Given the description of an element on the screen output the (x, y) to click on. 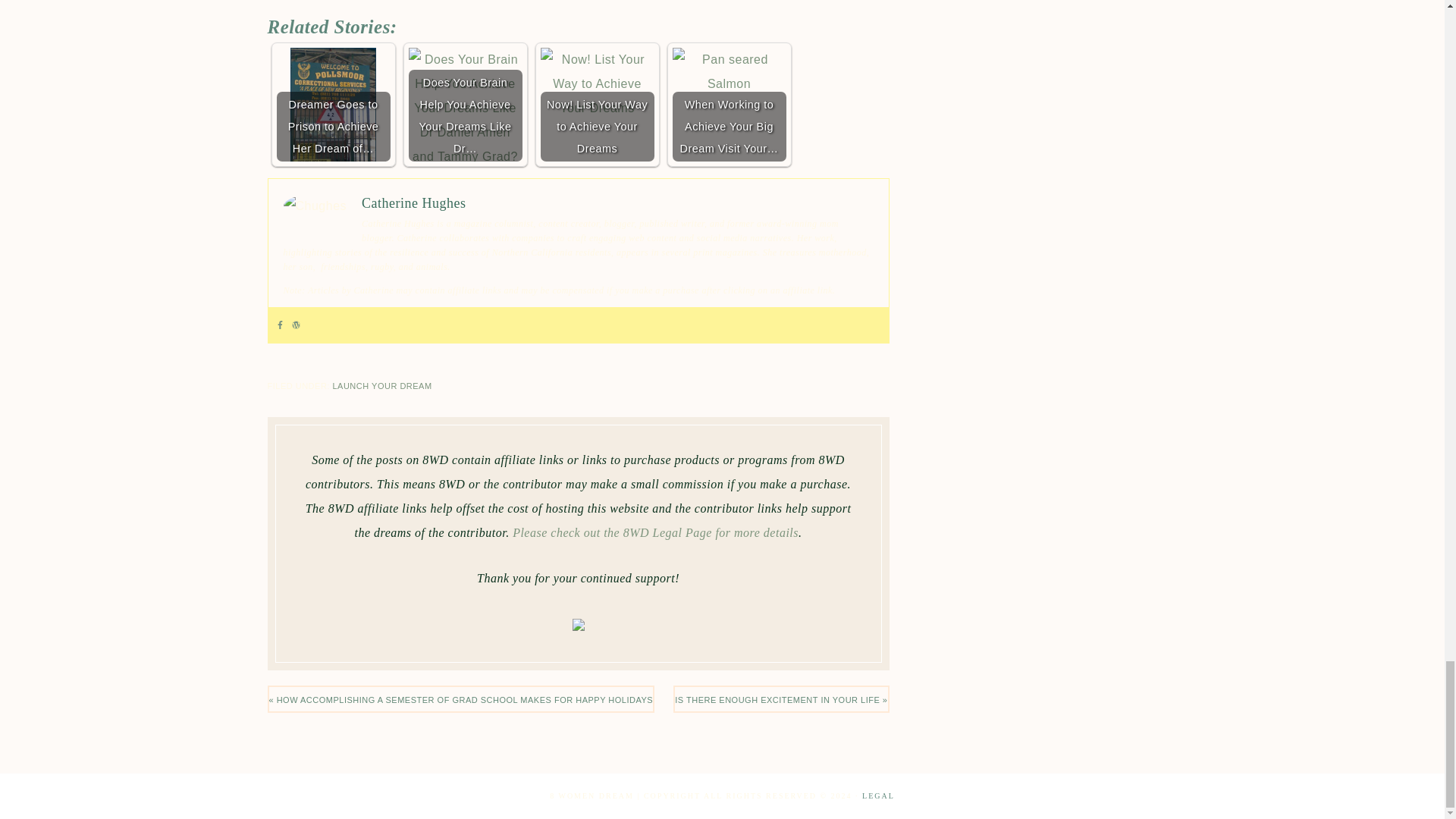
Now! List Your Way to Achieve Your Dreams (596, 104)
Catherine Hughes (413, 202)
LAUNCH YOUR DREAM (380, 385)
Now! List Your Way to Achieve Your Dreams  (596, 83)
Please check out the 8WD Legal Page for more details (654, 532)
